Given the description of an element on the screen output the (x, y) to click on. 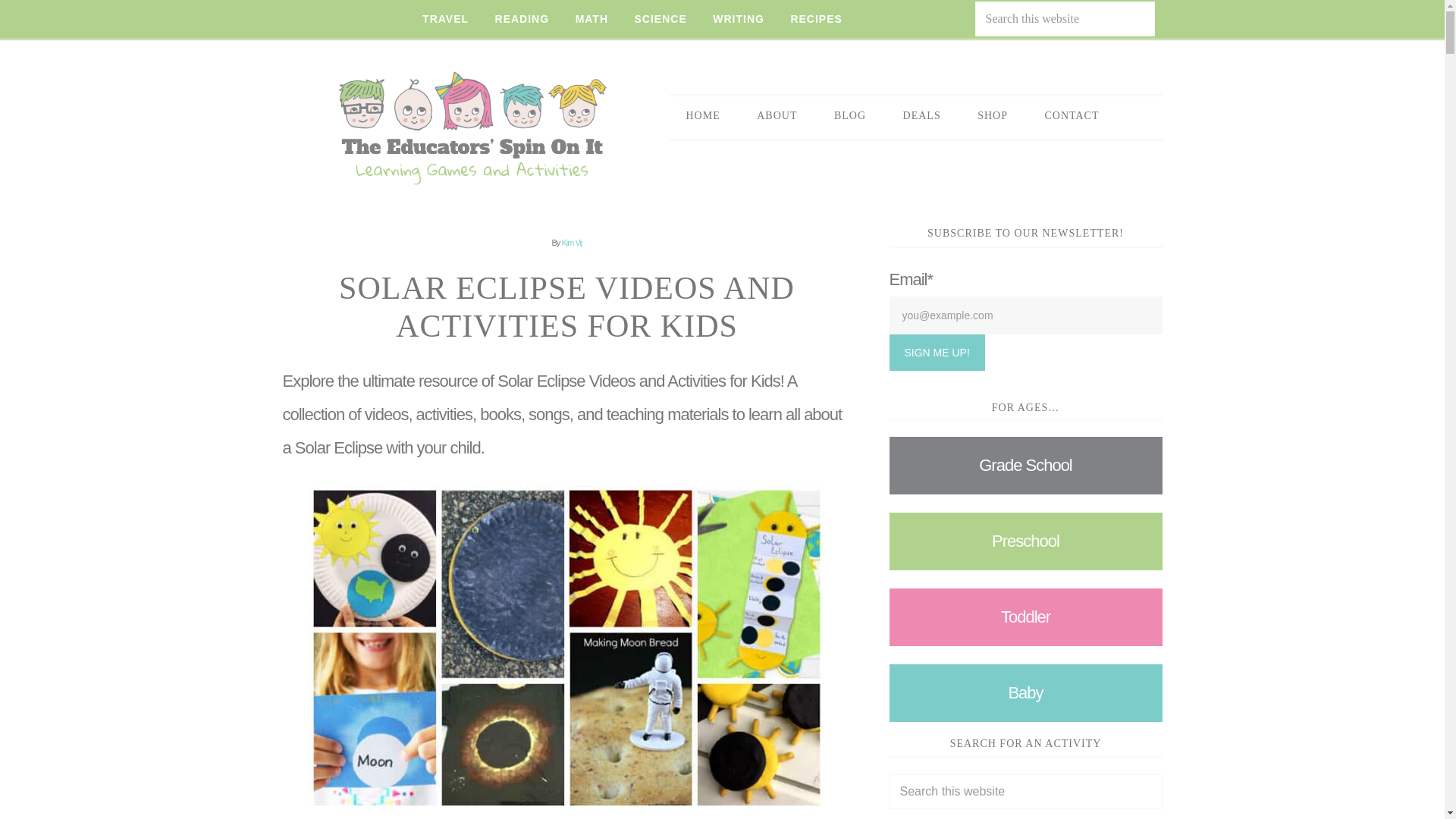
RECIPES (815, 19)
CONTACT (1071, 115)
SHOP (992, 115)
MATH (592, 19)
BLOG (849, 115)
HOME (702, 115)
WRITING (738, 19)
TRAVEL (445, 19)
Reading Activities for Kids  (521, 19)
DEALS (922, 115)
READING (521, 19)
